Given the description of an element on the screen output the (x, y) to click on. 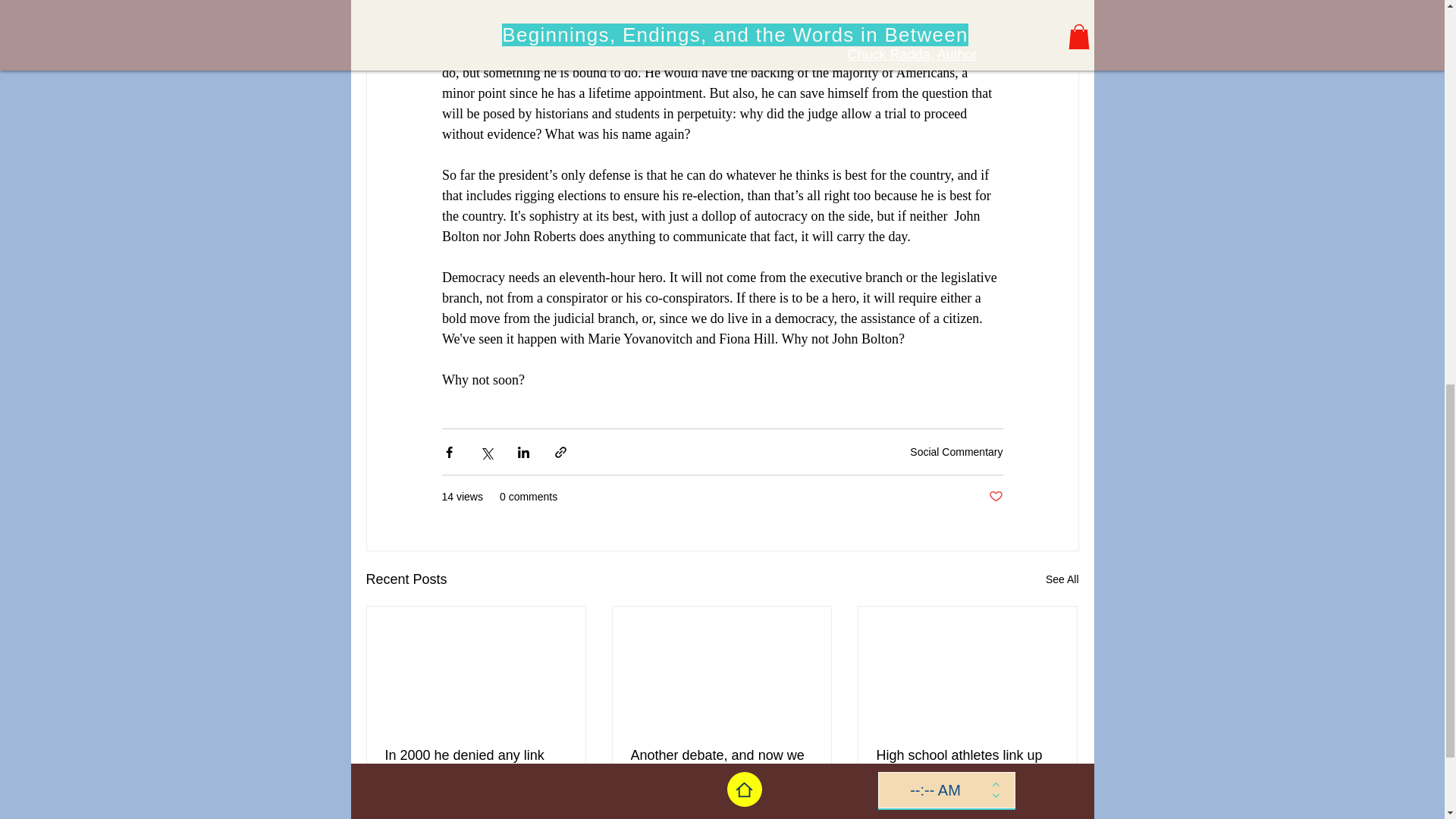
Social Commentary (956, 451)
0 (800, 814)
Post not marked as liked (555, 814)
Post not marked as liked (440, 814)
See All (995, 496)
0 (1050, 814)
0 (1061, 579)
